Given the description of an element on the screen output the (x, y) to click on. 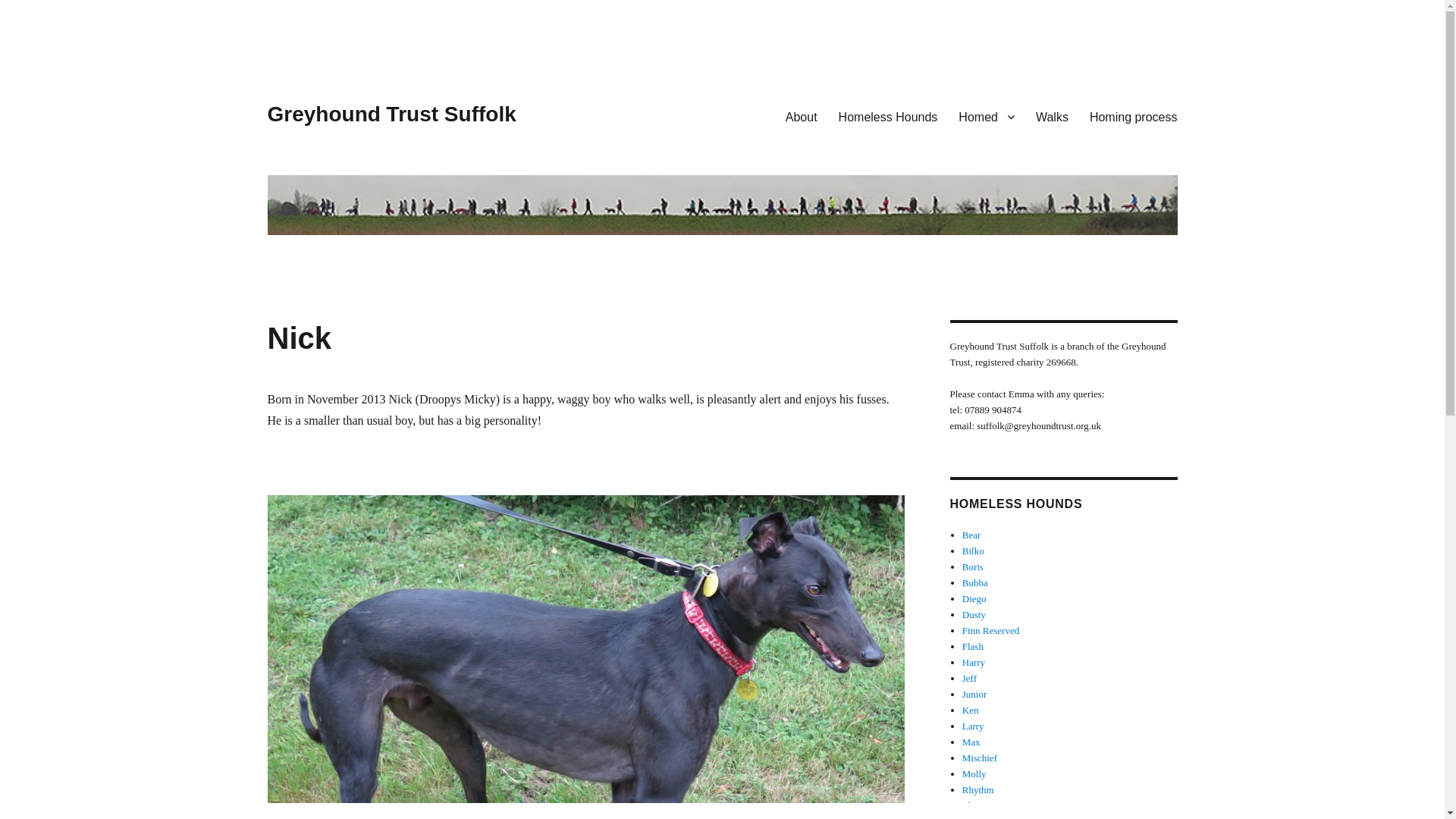
Bear (971, 534)
Max (970, 741)
Ken (970, 709)
Larry (973, 726)
Bilko (973, 550)
Sparky (976, 817)
Junior (974, 694)
Diego (974, 598)
Jeff (969, 677)
Homing process (1133, 116)
Boris (973, 566)
Harry (973, 662)
Walks (1051, 116)
Molly (974, 773)
About (801, 116)
